Given the description of an element on the screen output the (x, y) to click on. 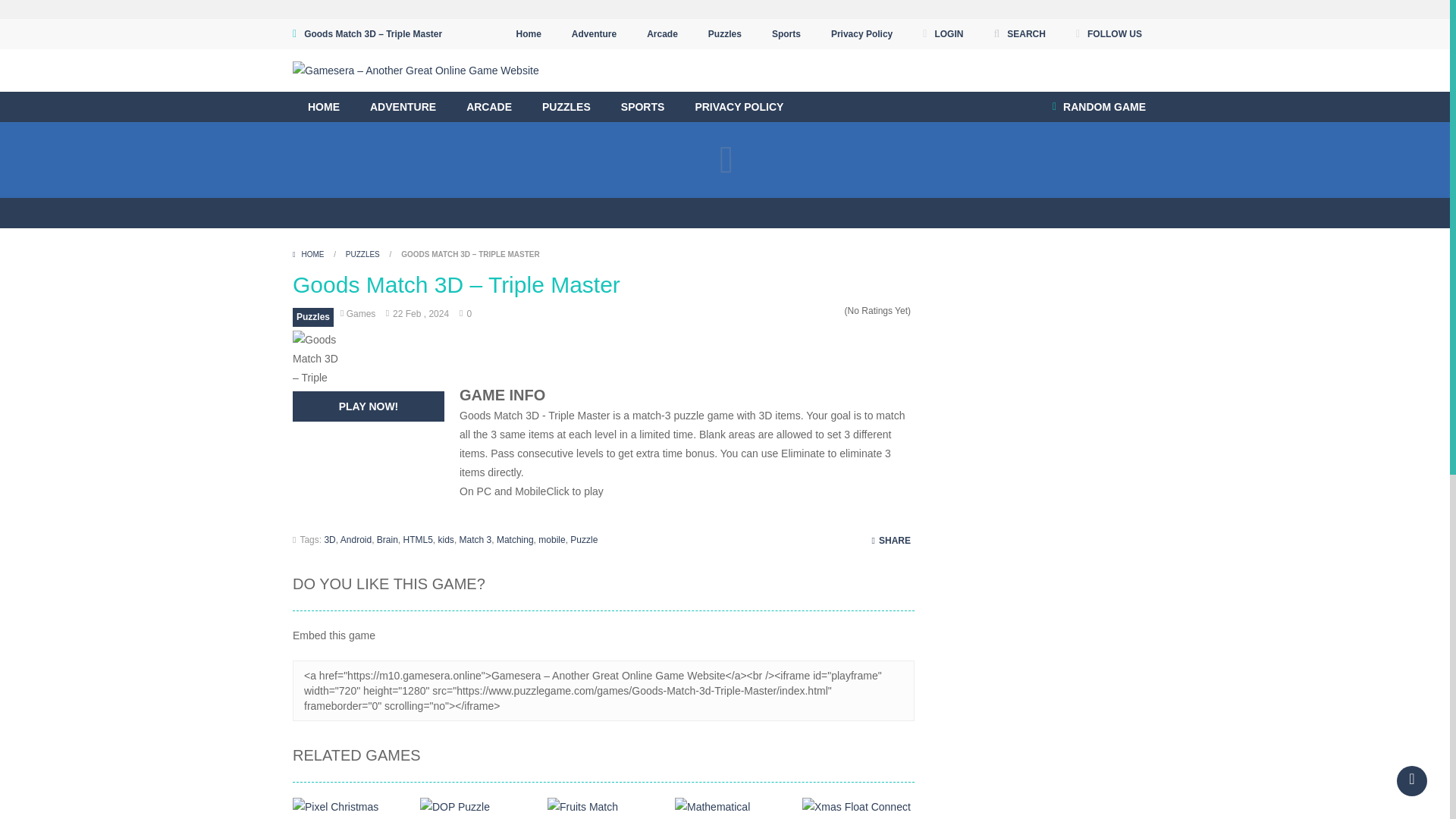
Home (527, 33)
HOME (323, 106)
ADVENTURE (403, 106)
Arcade (661, 33)
PRIVACY POLICY (738, 106)
Privacy Policy (861, 33)
RANDOM GAME (1099, 106)
SEARCH (1019, 33)
Adventure (593, 33)
LOGIN (942, 33)
SPORTS (642, 106)
Sports (786, 33)
PUZZLES (566, 106)
ARCADE (489, 106)
FOLLOW US (1108, 33)
